Given the description of an element on the screen output the (x, y) to click on. 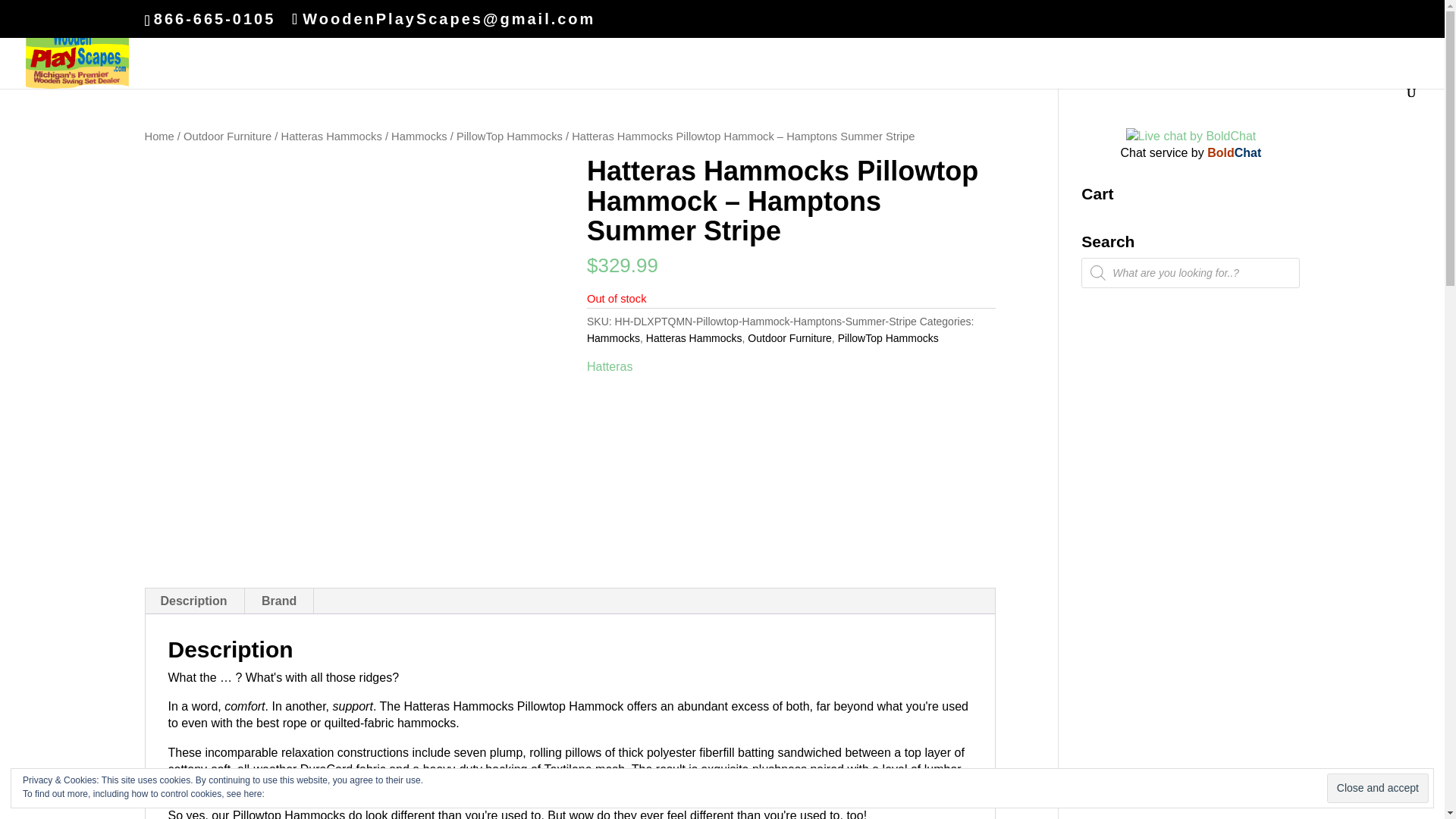
Close and accept (1377, 788)
Outdoor Furniture (789, 337)
Outdoor Furniture (226, 136)
Hammocks (613, 337)
Hatteras Hammocks (694, 337)
Hammocks (418, 136)
View brand (608, 366)
Hatteras Hammocks (331, 136)
PillowTop Hammocks (509, 136)
Home (158, 136)
